Given the description of an element on the screen output the (x, y) to click on. 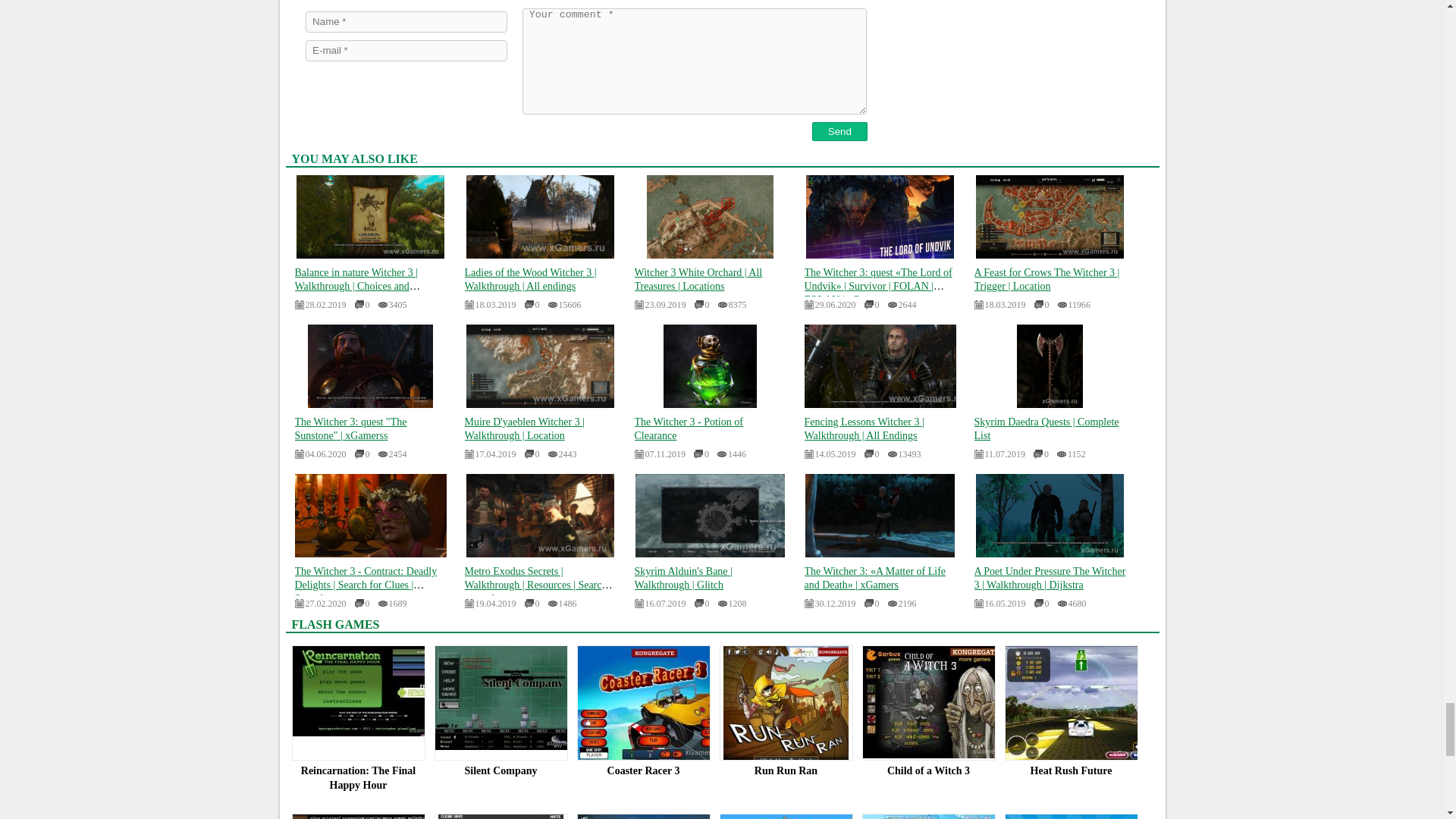
Send (839, 131)
